Given the description of an element on the screen output the (x, y) to click on. 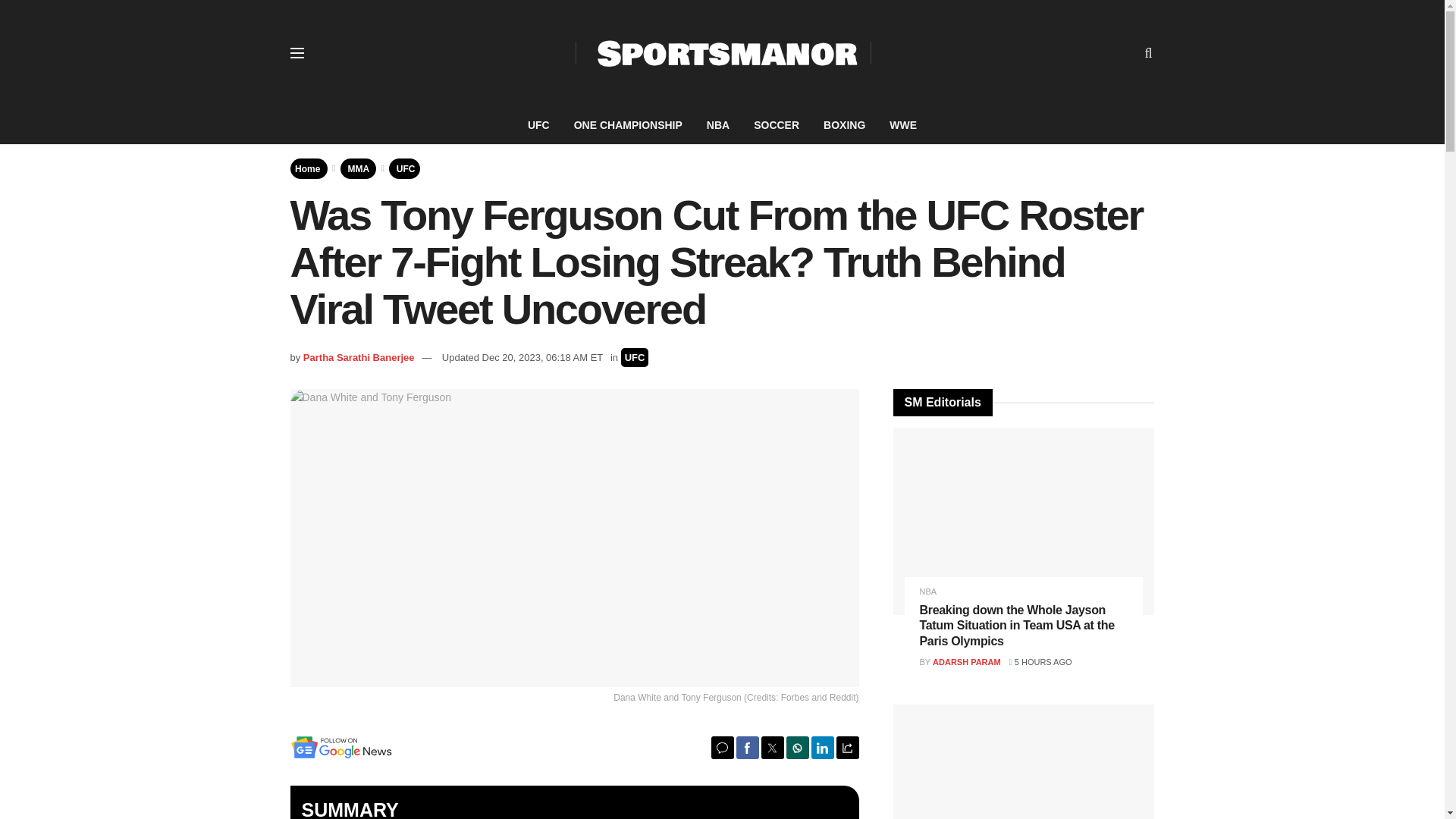
Home (307, 167)
NBA (717, 125)
UFC (538, 125)
SOCCER (775, 125)
Partha Sarathi Banerjee (358, 357)
ONE CHAMPIONSHIP (628, 125)
WWE (902, 125)
UFC (405, 167)
Updated Dec 20, 2023, 06:18 AM ET (522, 357)
BOXING (843, 125)
MMA (357, 167)
UFC (635, 357)
